Given the description of an element on the screen output the (x, y) to click on. 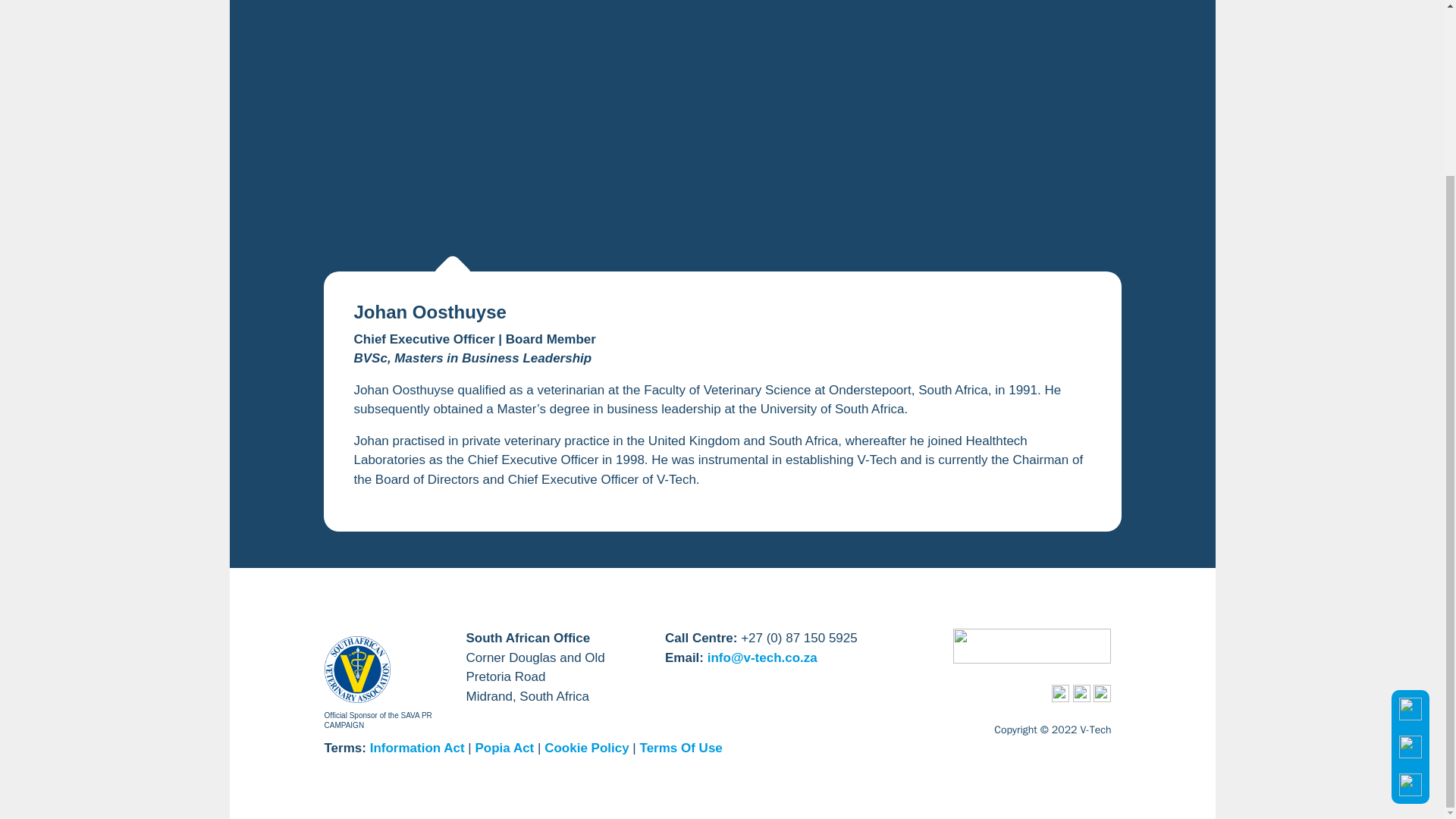
Popia Act (507, 748)
Cookie Policy (586, 748)
Information Act (416, 748)
